Given the description of an element on the screen output the (x, y) to click on. 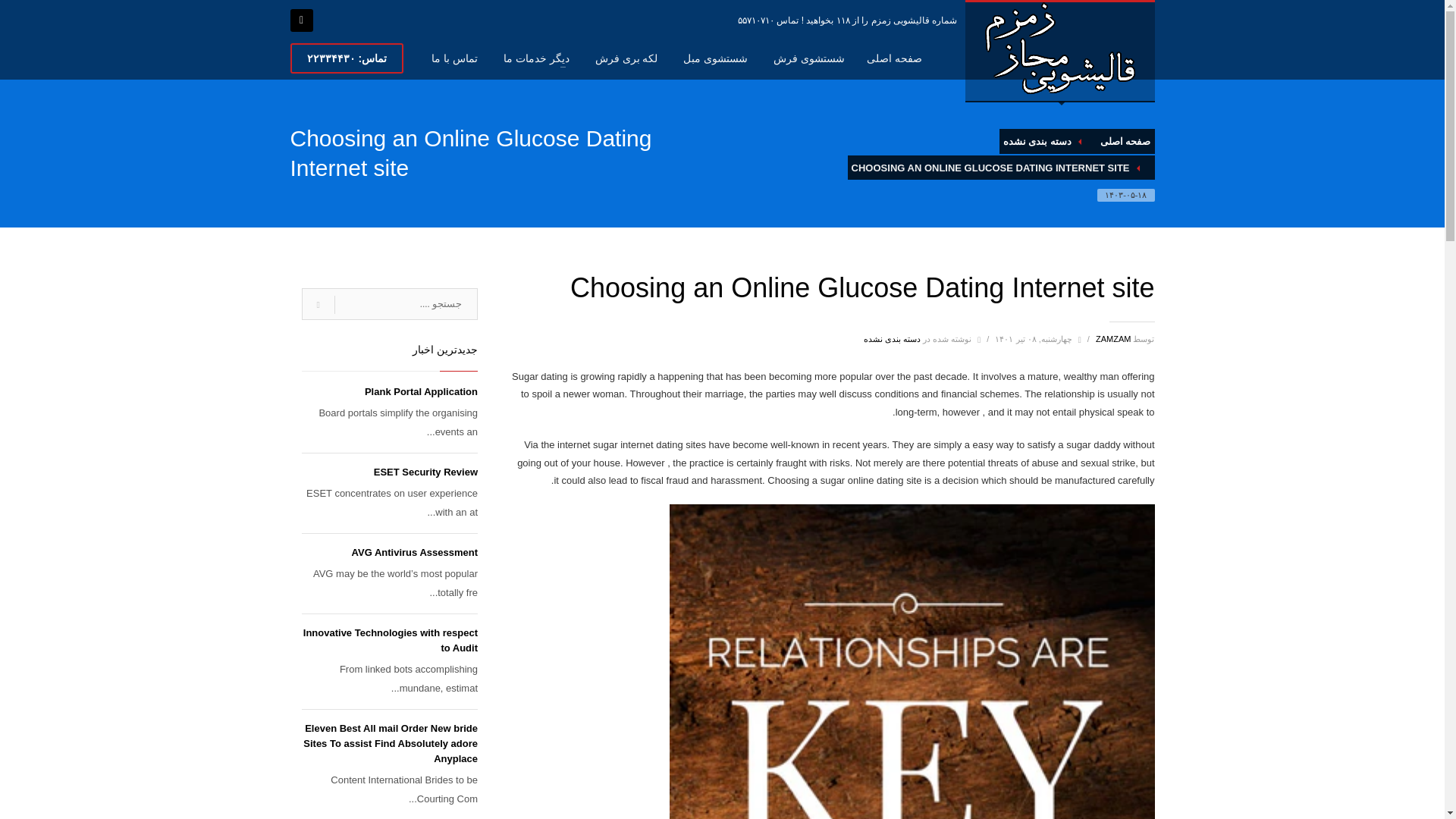
AVG Antivirus Assessment (414, 552)
Plank Portal Application (421, 391)
ESET Security Review (425, 471)
Innovative Technologies with respect to Audit (389, 640)
AVG Antivirus Assessment (414, 552)
Plank Portal Application (421, 391)
ESET Security Review (425, 471)
go (317, 305)
instagram (301, 20)
